Given the description of an element on the screen output the (x, y) to click on. 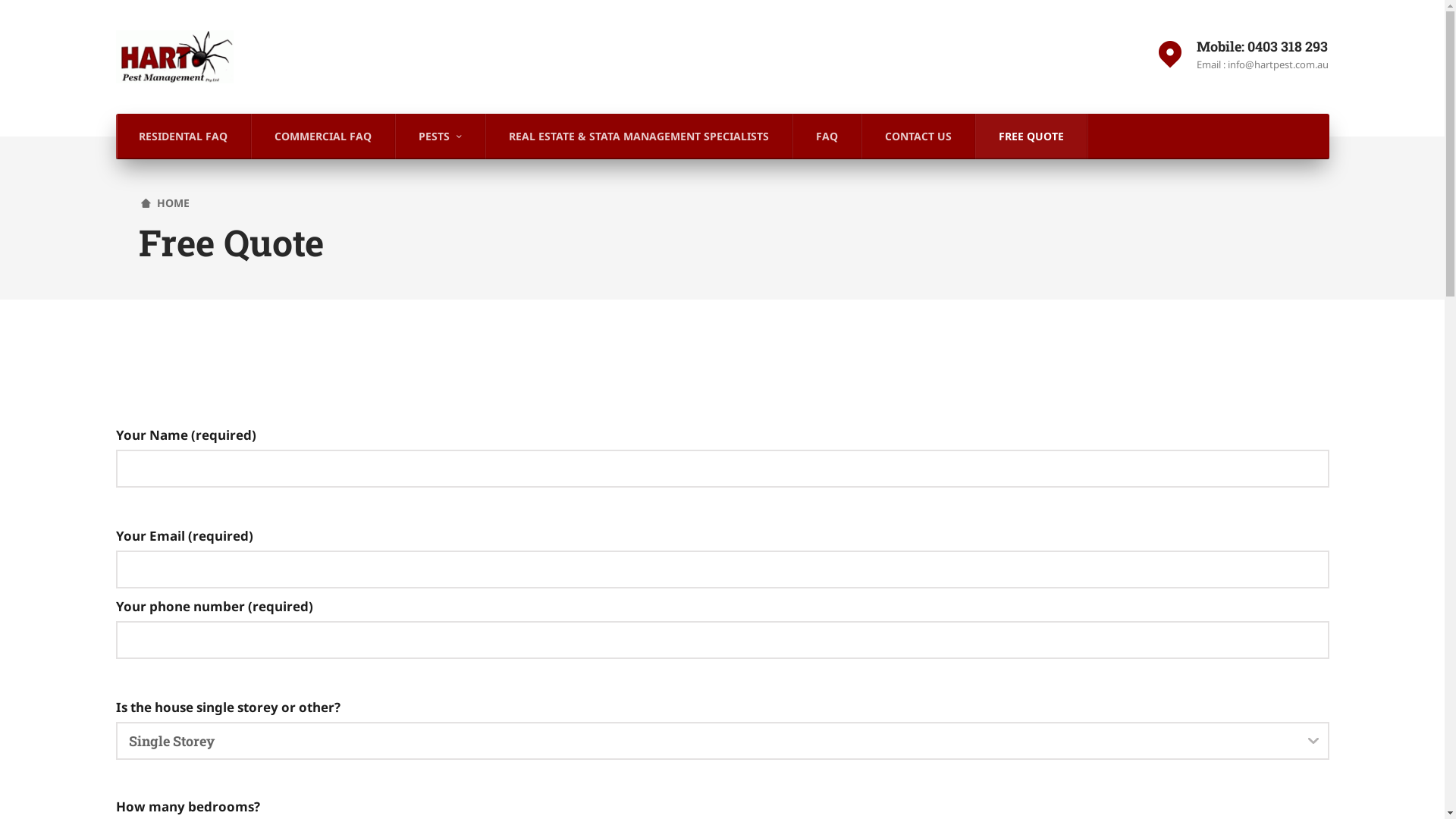
HOME Element type: text (165, 202)
CONTACT US Element type: text (917, 136)
FREE QUOTE Element type: text (1030, 136)
PESTS Element type: text (440, 136)
FAQ Element type: text (827, 136)
REAL ESTATE & STATA MANAGEMENT SPECIALISTS Element type: text (638, 136)
COMMERCIAL FAQ Element type: text (323, 136)
RESIDENTAL FAQ Element type: text (182, 136)
